Given the description of an element on the screen output the (x, y) to click on. 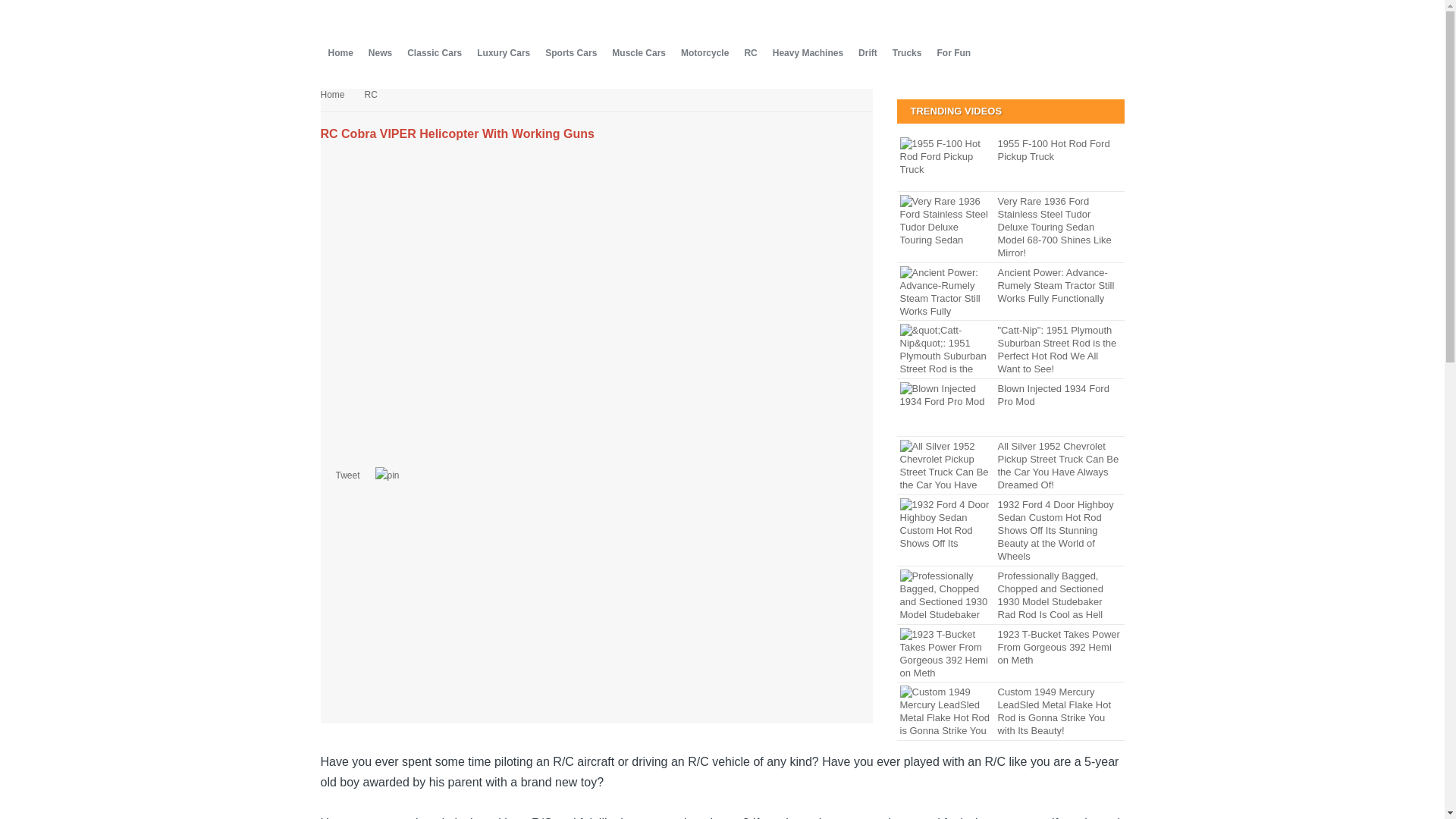
Trucks (907, 53)
Sports Cars (570, 53)
Blown Injected 1934 Ford Pro Mod (1010, 394)
1955 F-100 Hot Rod Ford Pickup Truck (1010, 149)
Drift (867, 53)
For Fun (953, 53)
News (379, 53)
